Given the description of an element on the screen output the (x, y) to click on. 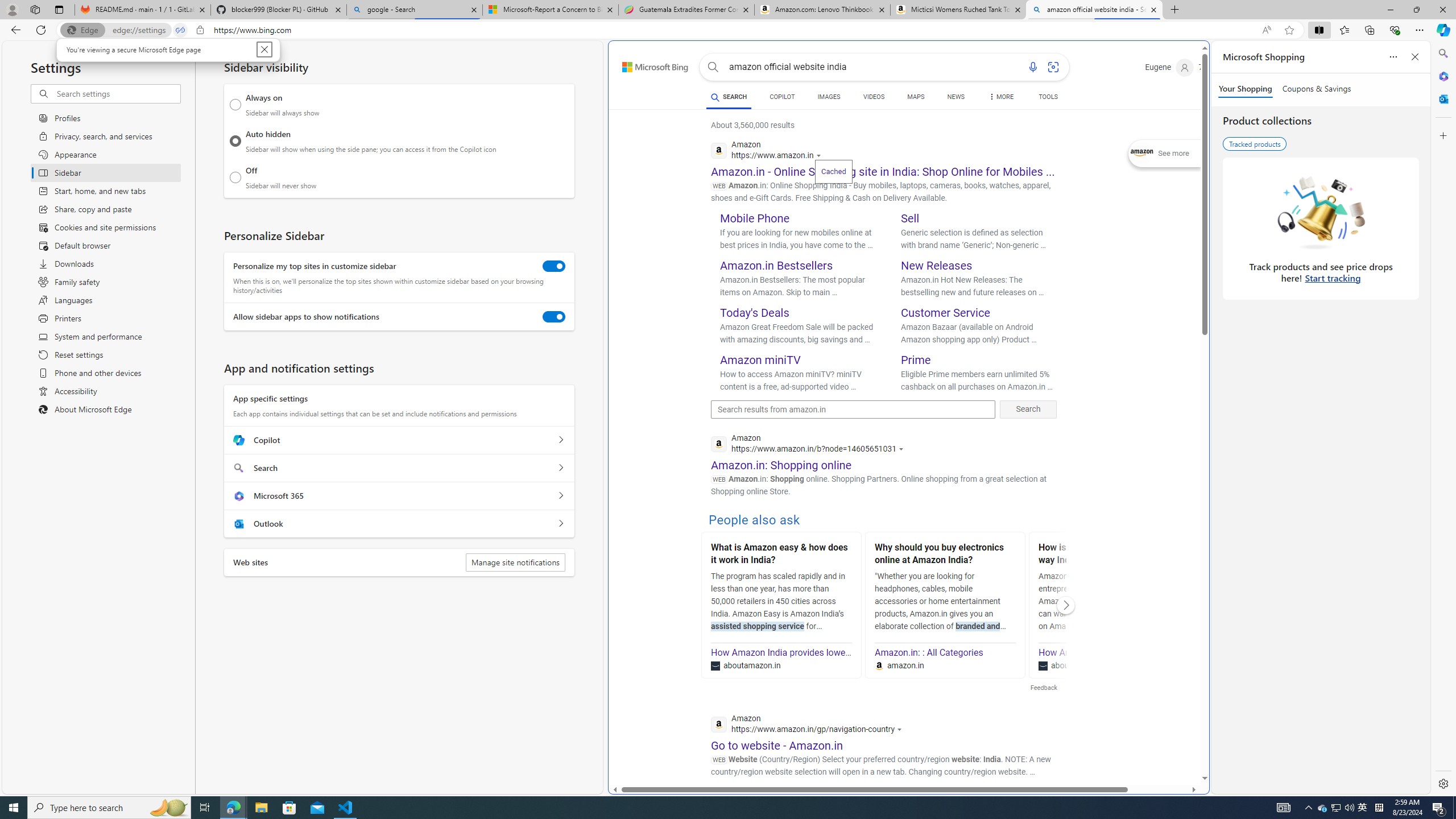
Cached (833, 171)
Amazon.in: Shopping online (780, 464)
Search button (713, 66)
Off Sidebar will never show (235, 177)
Back to Bing search (648, 64)
Microsoft Edge - 2 running windows (233, 807)
MAPS (915, 98)
Expand (1142, 153)
NEWS (955, 98)
